Given the description of an element on the screen output the (x, y) to click on. 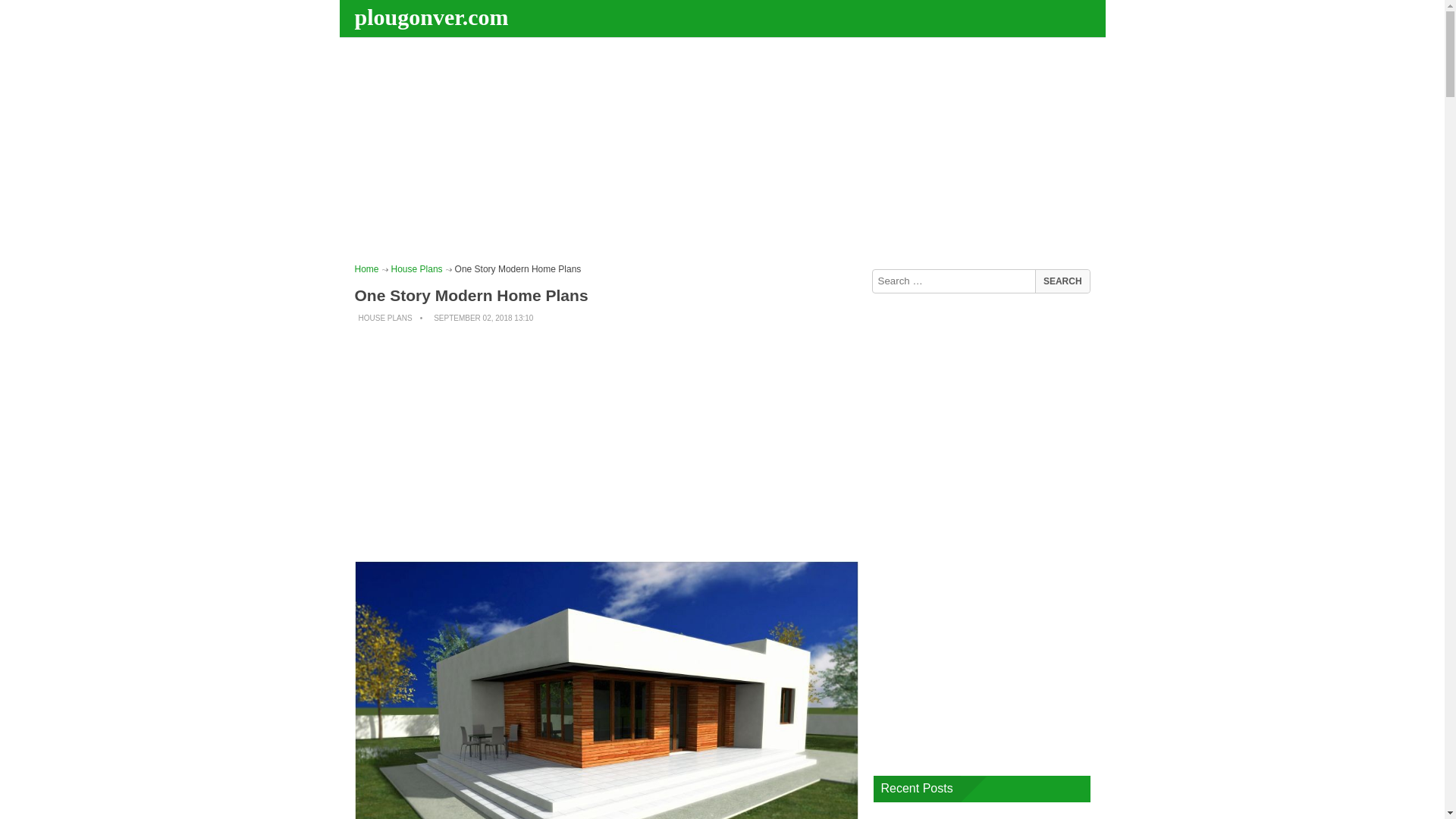
plougonver.com (433, 16)
Advertisement (607, 443)
HOUSE PLANS (385, 317)
Search (1062, 281)
House Plans (416, 268)
Home (366, 268)
Search (1062, 281)
